Given the description of an element on the screen output the (x, y) to click on. 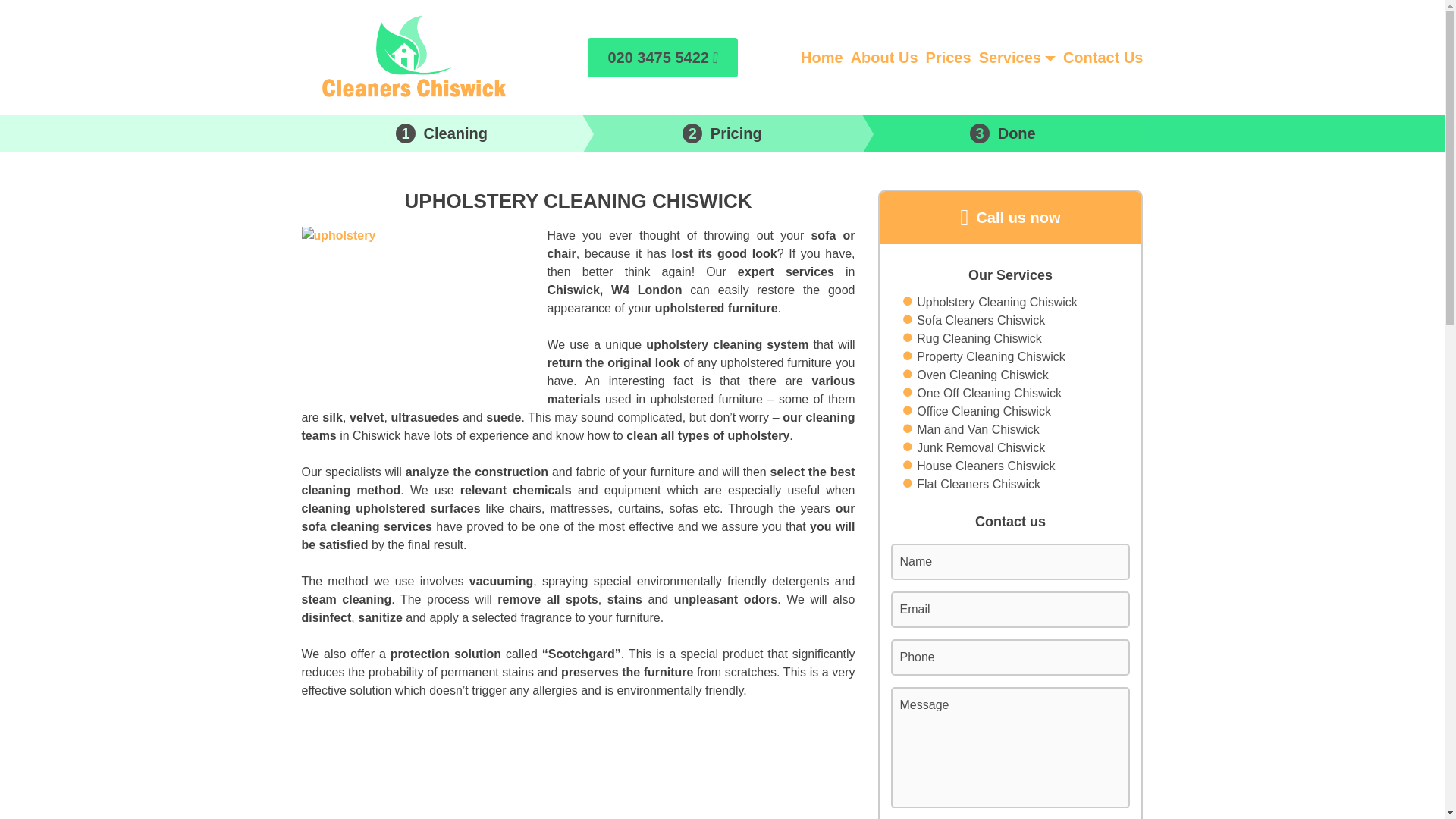
Office Cleaning Chiswick (984, 411)
One Off Cleaning Chiswick (989, 393)
020 3475 5422 (663, 56)
Sofa Cleaners Chiswick (981, 321)
Call us now (1010, 217)
Home (821, 56)
Services (1009, 56)
Man and Van Chiswick (978, 429)
Oven Cleaning Chiswick (982, 375)
Property Cleaning Chiswick (991, 357)
House Cleaners Chiswick (985, 466)
About Us (884, 56)
Junk Removal Chiswick (981, 447)
Rug Cleaning Chiswick (979, 339)
Contact Us (1102, 56)
